Given the description of an element on the screen output the (x, y) to click on. 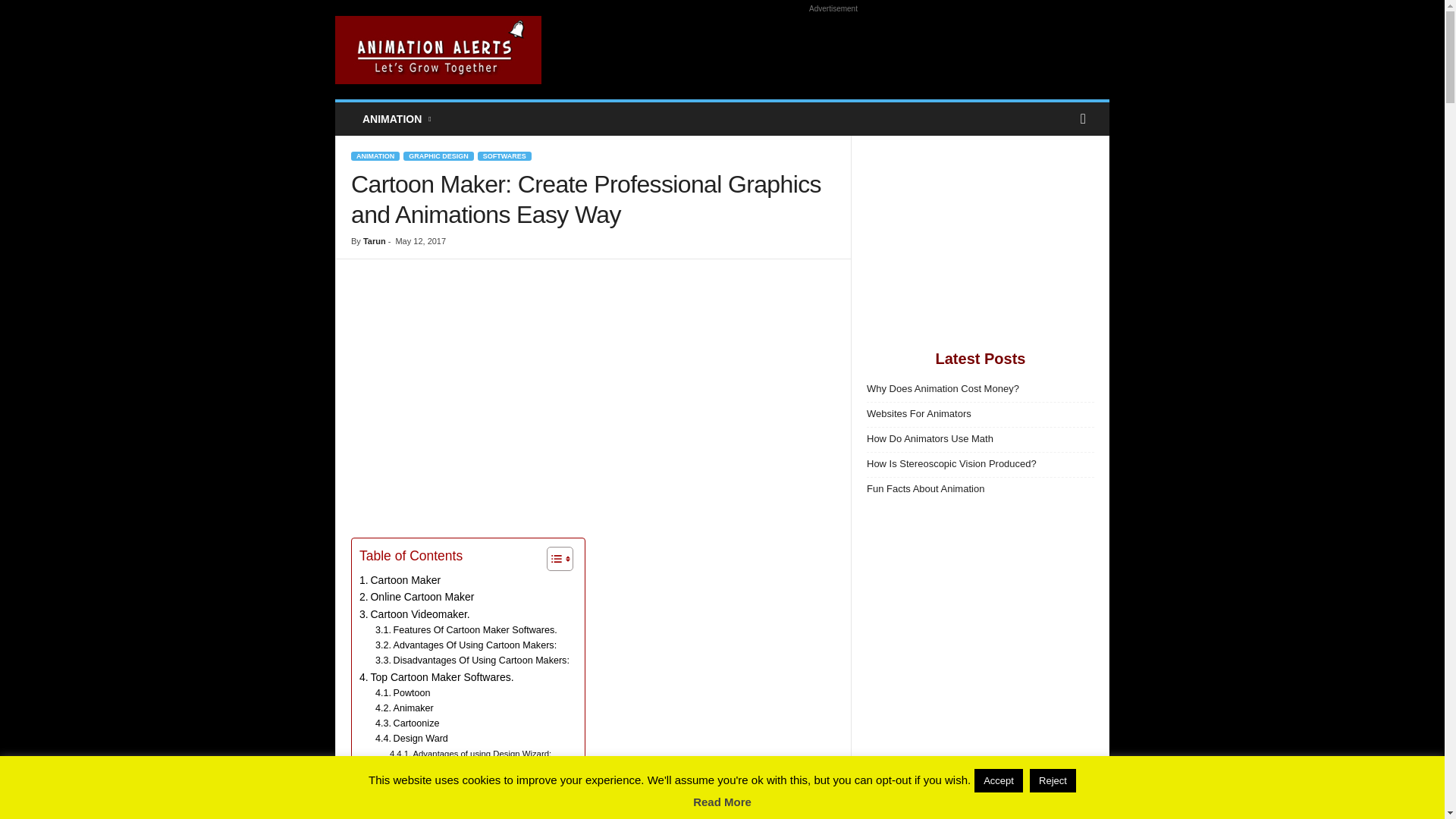
Online Cartoon Maker (416, 596)
Tarun (373, 240)
GRAPHIC DESIGN (438, 155)
SOFTWARES (504, 155)
Animation Alerts (437, 49)
ANIMATION (374, 155)
ANIMATION (397, 118)
Cartoon Maker (400, 579)
